Given the description of an element on the screen output the (x, y) to click on. 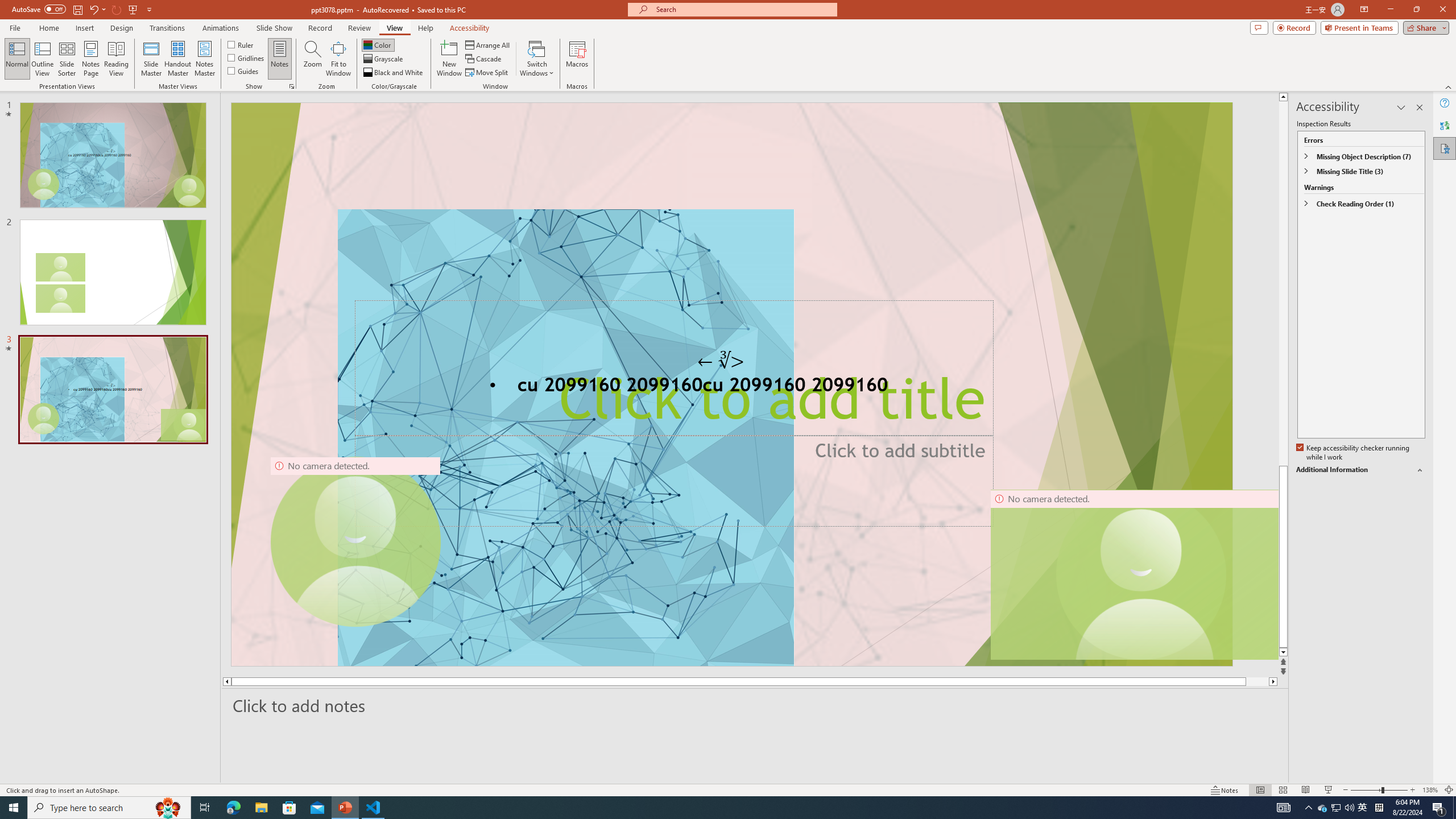
Camera 9, No camera detected. (355, 542)
Animations (220, 28)
Slide Master (151, 58)
Cascade (484, 58)
New Window (449, 58)
Gridlines (246, 56)
Collapse the Ribbon (1448, 86)
From Beginning (133, 9)
Grid Settings... (291, 85)
Quick Access Toolbar (82, 9)
